Given the description of an element on the screen output the (x, y) to click on. 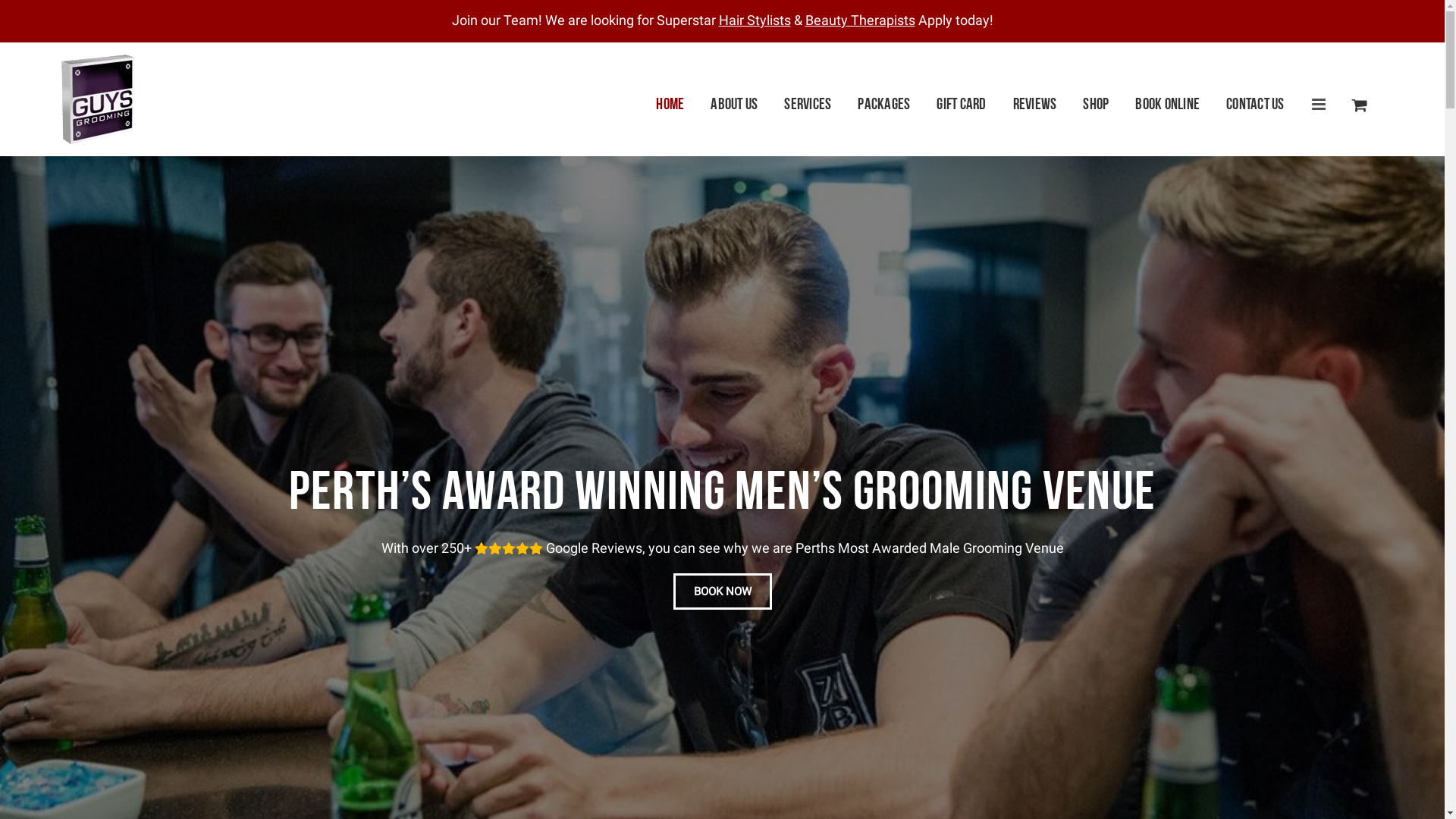
GIFT CARD Element type: text (960, 104)
BOOK NOW Element type: text (722, 591)
SERVICES Element type: text (807, 104)
HOME Element type: text (669, 104)
SHOP Element type: text (1095, 104)
BOOK ONLINE Element type: text (1167, 104)
REVIEWS Element type: text (1035, 104)
CONTACT US Element type: text (1255, 104)
Hair Stylists Element type: text (754, 20)
ABOUT US Element type: text (733, 104)
Beauty Therapists Element type: text (860, 20)
PACKAGES Element type: text (883, 104)
